Given the description of an element on the screen output the (x, y) to click on. 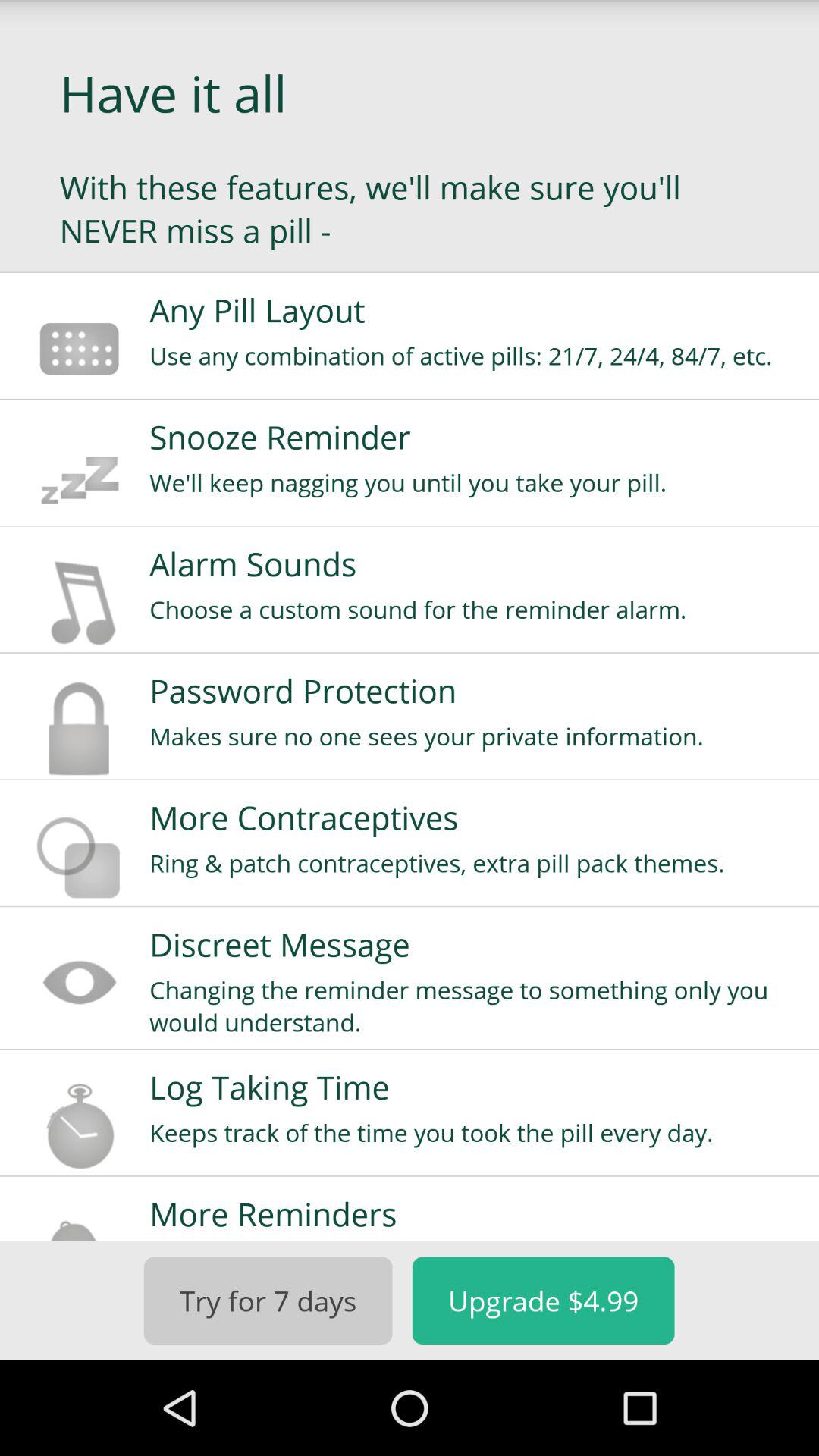
launch the app above with these features app (409, 92)
